Given the description of an element on the screen output the (x, y) to click on. 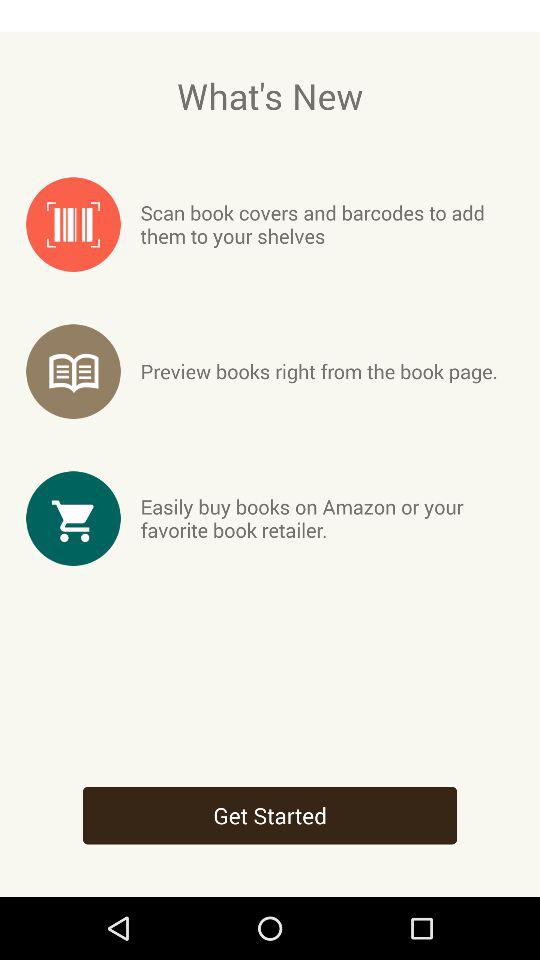
choose the icon below preview books right (326, 518)
